Given the description of an element on the screen output the (x, y) to click on. 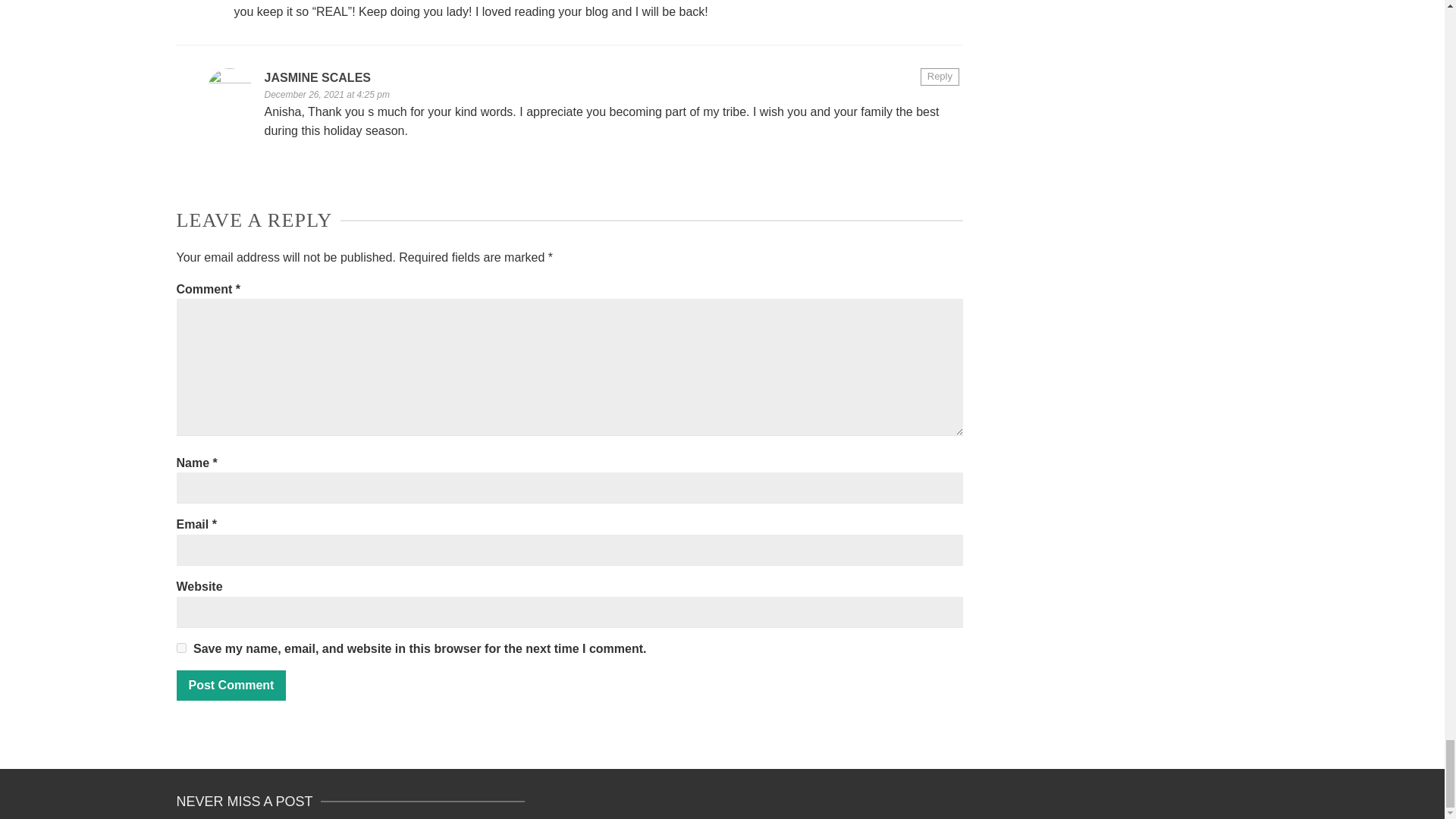
yes (181, 646)
Post Comment (230, 685)
